Given the description of an element on the screen output the (x, y) to click on. 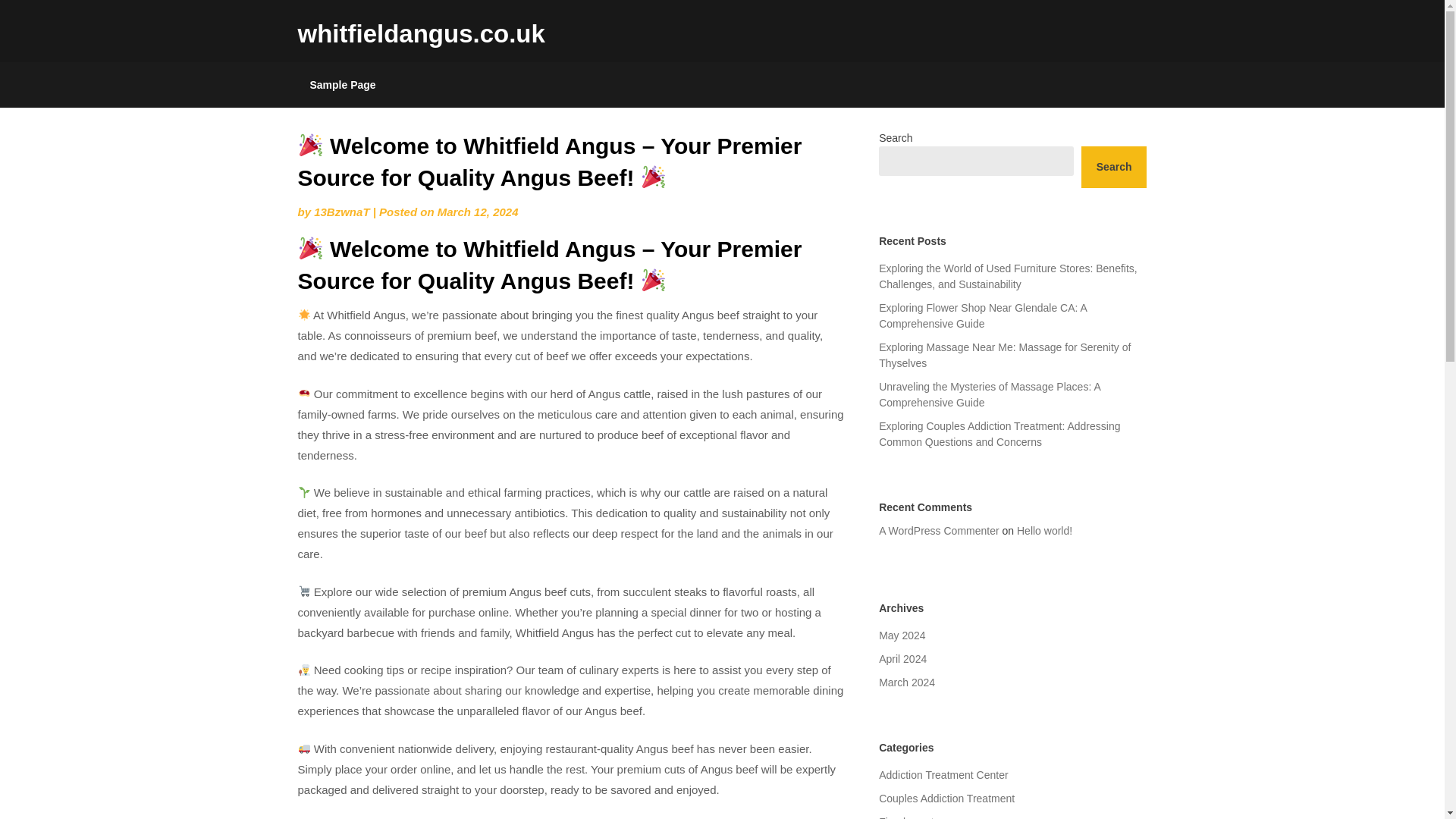
April 2024 (902, 658)
May 2024 (901, 635)
13BzwnaT (341, 211)
Addiction Treatment Center (943, 775)
March 12, 2024 (478, 211)
Exploring Massage Near Me: Massage for Serenity of Thyselves (1005, 355)
whitfieldangus.co.uk (420, 33)
Search (1114, 167)
Sample Page (342, 84)
